Given the description of an element on the screen output the (x, y) to click on. 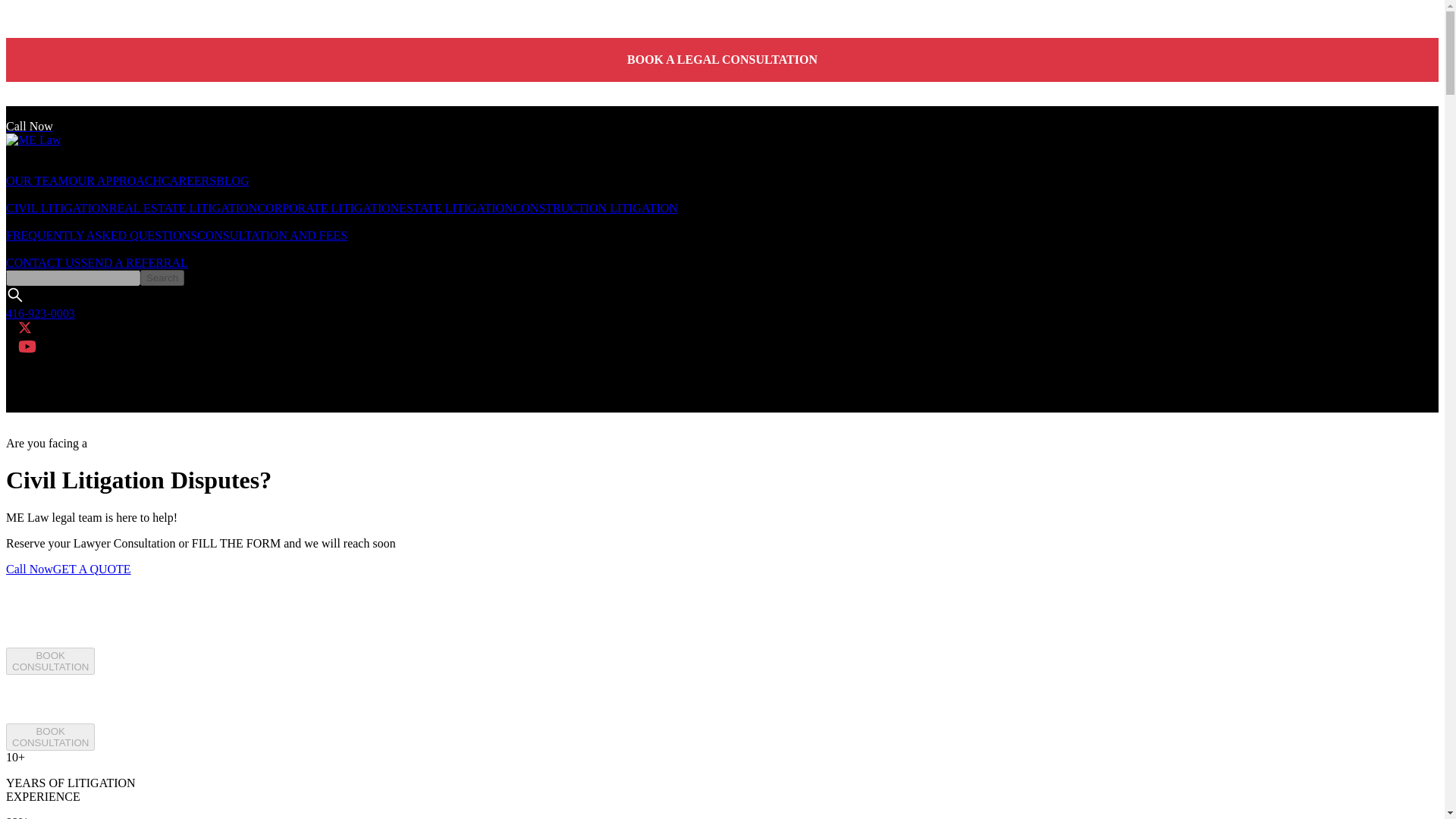
CONTACT US (42, 262)
CIVIL LITIGATION (57, 207)
OUR APPROACH (114, 180)
CORPORATE LITIGATION (49, 737)
FREQUENTLY ASKED QUESTIONS (327, 207)
GET A QUOTE (100, 235)
CAREERS (91, 568)
Search (49, 660)
OUR TEAM (188, 180)
BLOG (161, 277)
CONSTRUCTION LITIGATION (36, 180)
ESTATE LITIGATION (231, 180)
REAL ESTATE LITIGATION (595, 207)
